Given the description of an element on the screen output the (x, y) to click on. 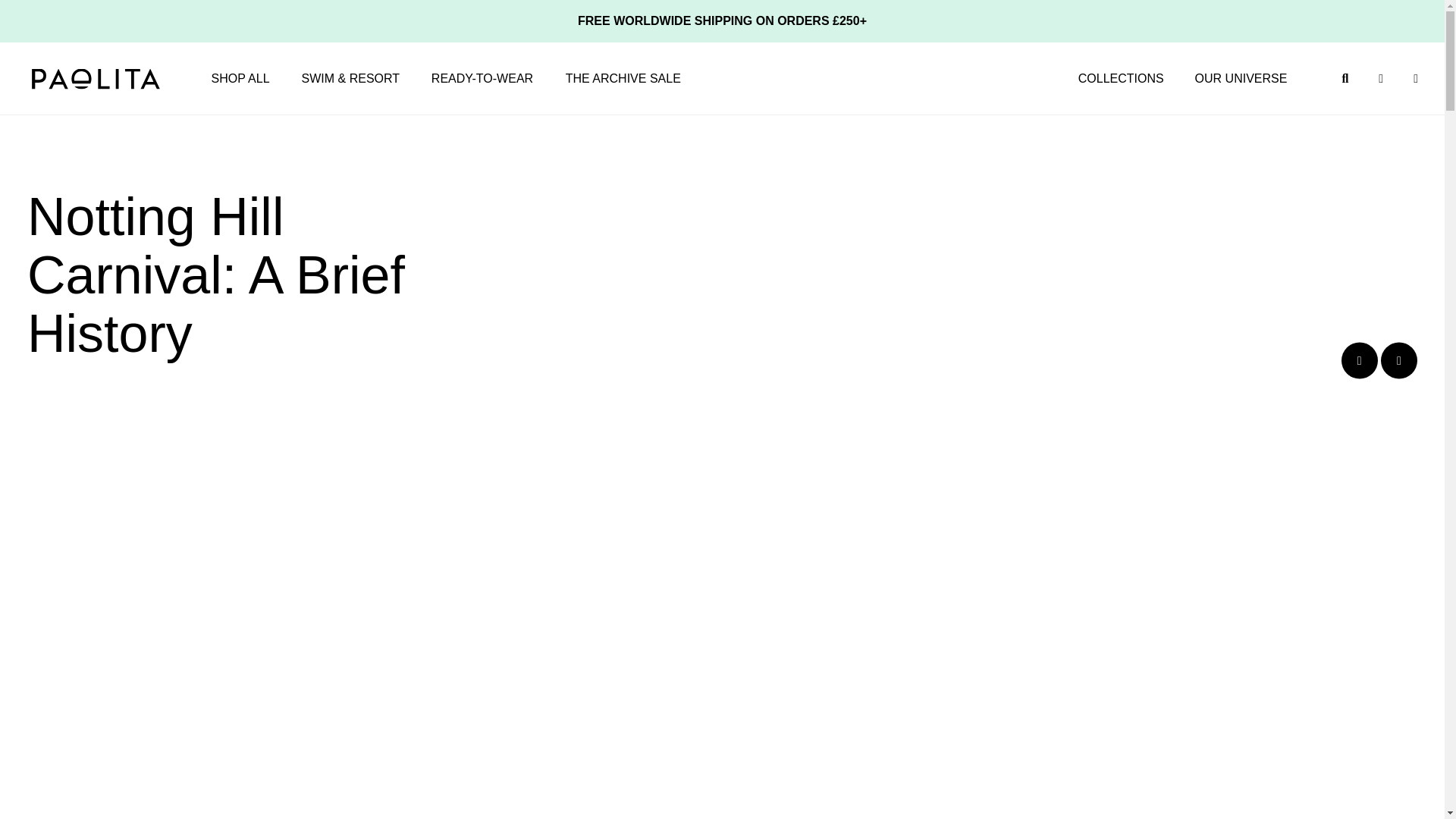
READY-TO-WEAR (482, 78)
COLLECTIONS (1120, 78)
OUR UNIVERSE (1241, 78)
THE ARCHIVE SALE (622, 78)
